Given the description of an element on the screen output the (x, y) to click on. 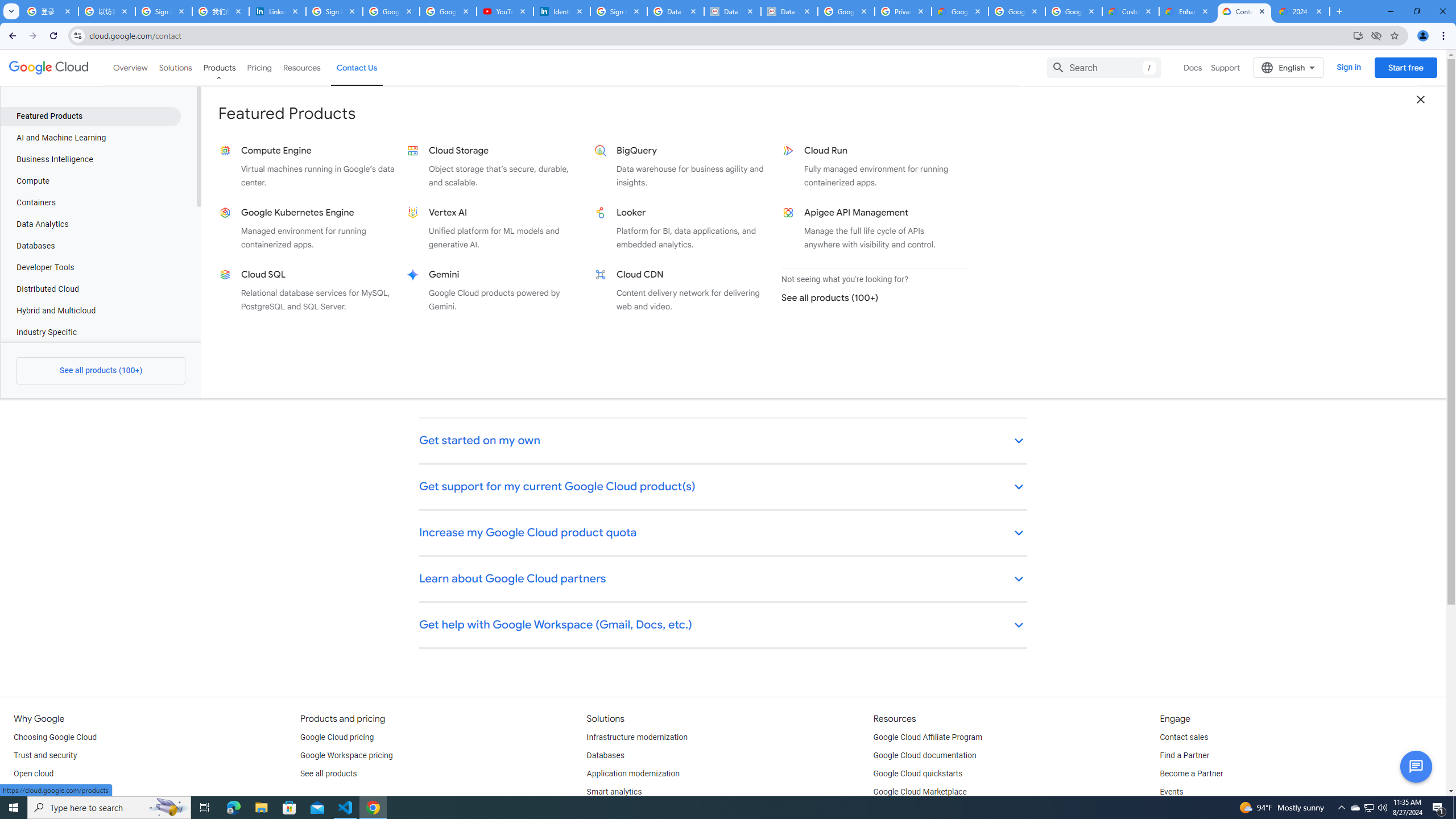
Multicloud (31, 791)
BigQuery Data warehouse for business agility and insights. (682, 166)
Compute (90, 180)
See all products (327, 773)
LinkedIn Privacy Policy (277, 11)
Products (218, 67)
Sign in - Google Accounts (618, 11)
Solutions (175, 67)
